Given the description of an element on the screen output the (x, y) to click on. 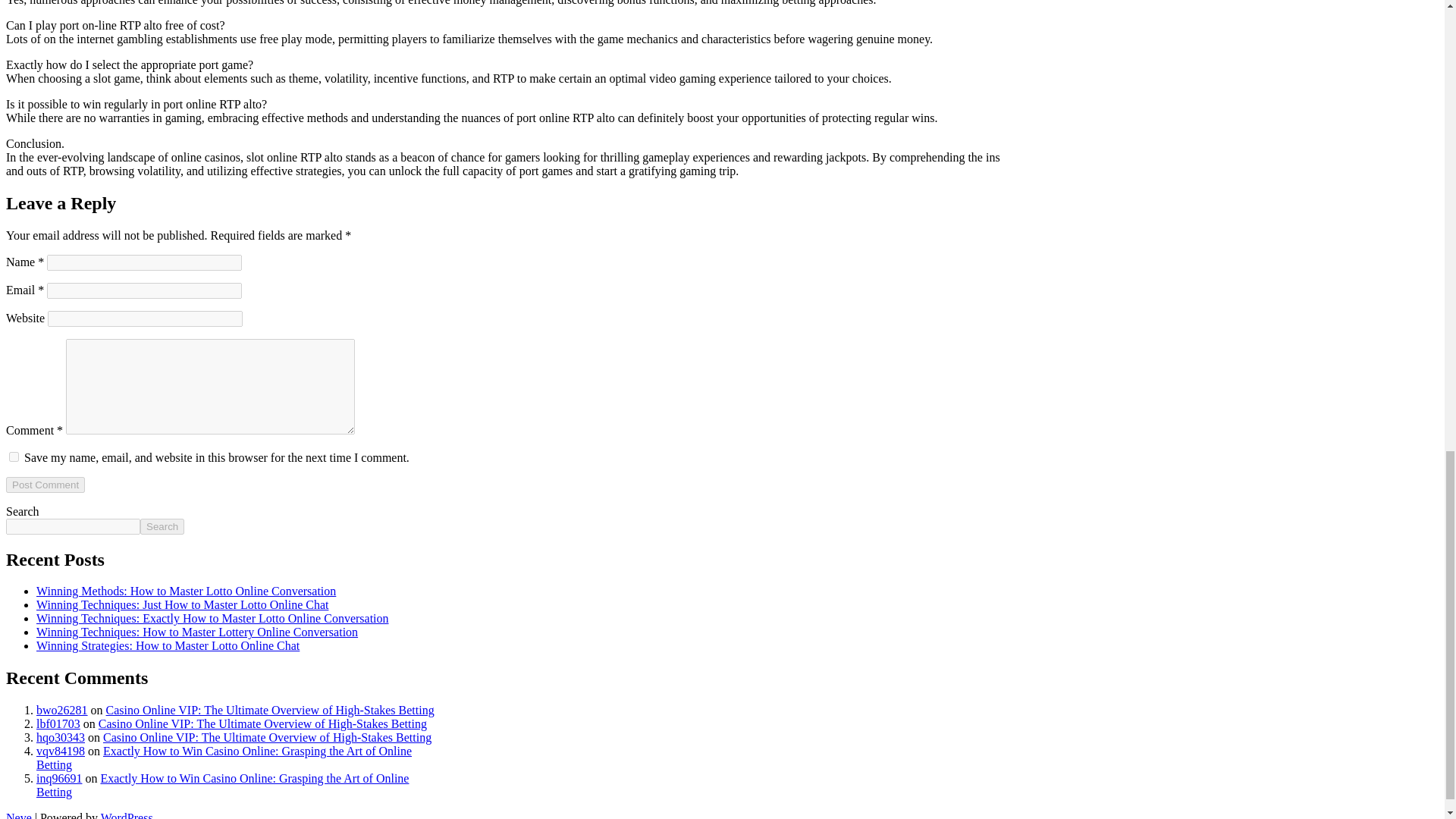
inq96691 (58, 778)
hqo30343 (60, 737)
Winning Strategies: How to Master Lotto Online Chat (167, 645)
Search (161, 526)
bwo26281 (61, 709)
Post Comment (44, 484)
